Given the description of an element on the screen output the (x, y) to click on. 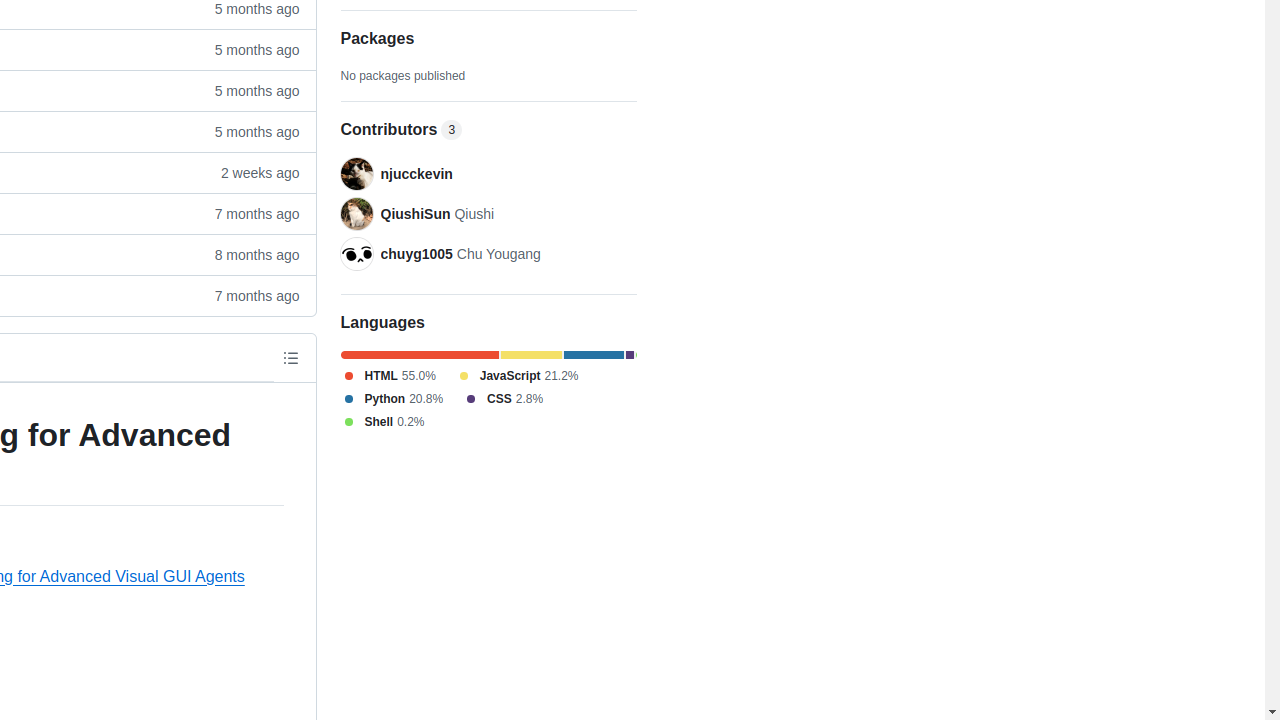
@njucckevin Element type: link (356, 174)
chuyg1005 Chu Yougang Element type: link (460, 253)
